Given the description of an element on the screen output the (x, y) to click on. 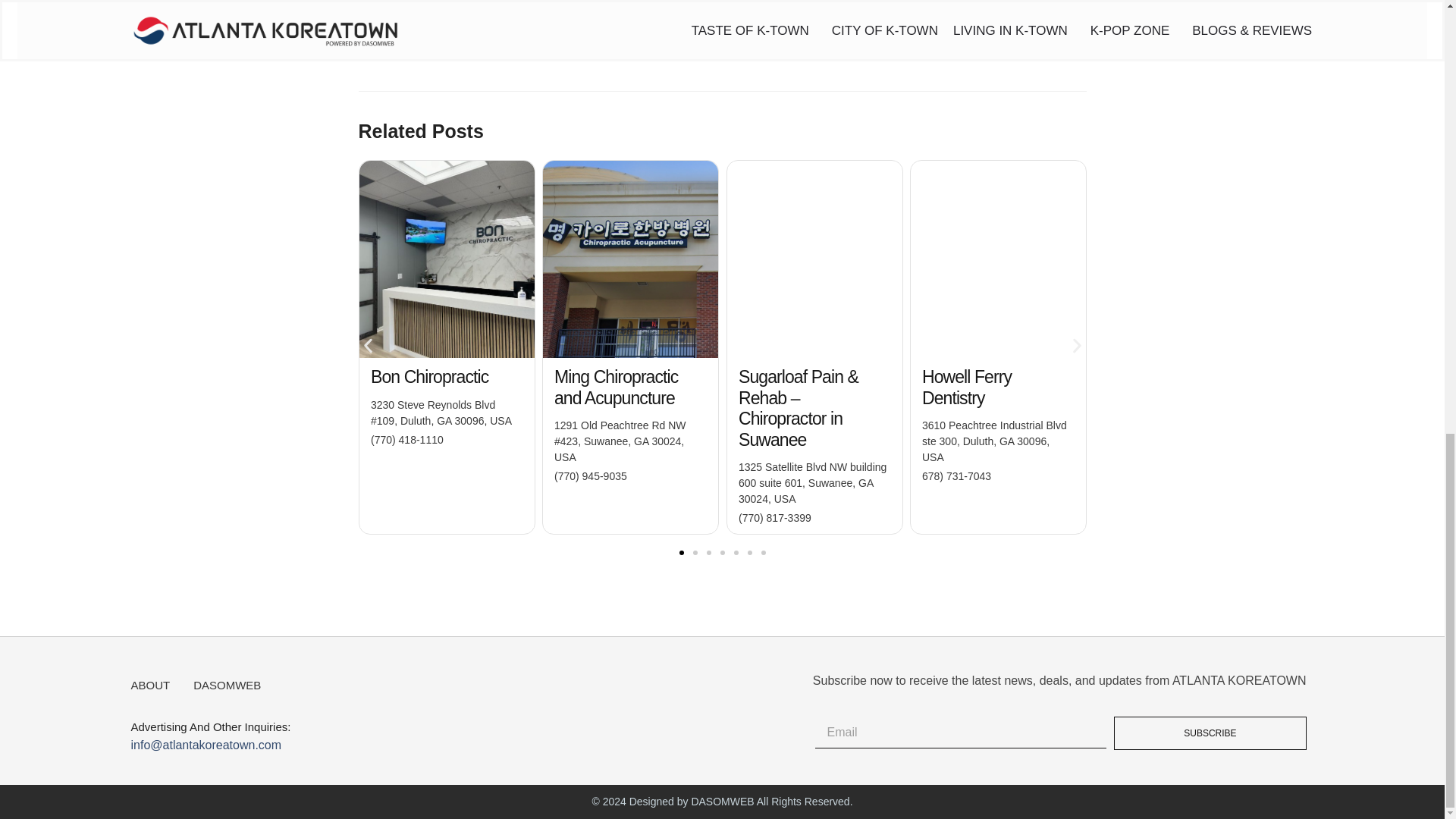
2024-03-19-3 (446, 258)
